Given the description of an element on the screen output the (x, y) to click on. 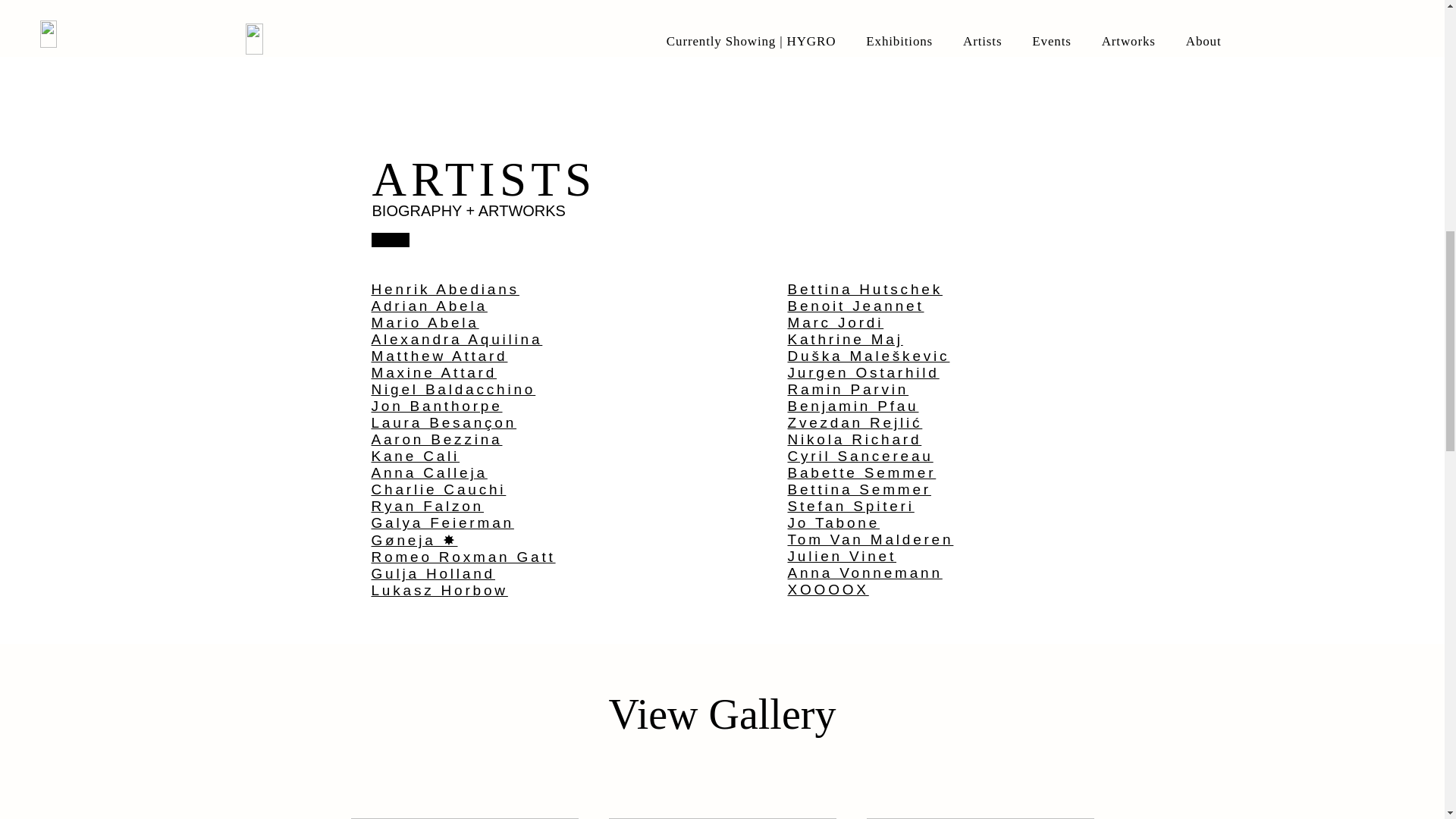
Alexandra Aquilina (457, 339)
Lukasz Horbow (439, 590)
Nigel Baldacchino (453, 389)
Kane Cali (415, 455)
Bettina Hutschek (864, 289)
Anna Calleja (429, 472)
Marc Jordi (835, 322)
Gulja Holland (433, 573)
Aaron Bezzina (436, 439)
Galya Feierman (442, 522)
